Given the description of an element on the screen output the (x, y) to click on. 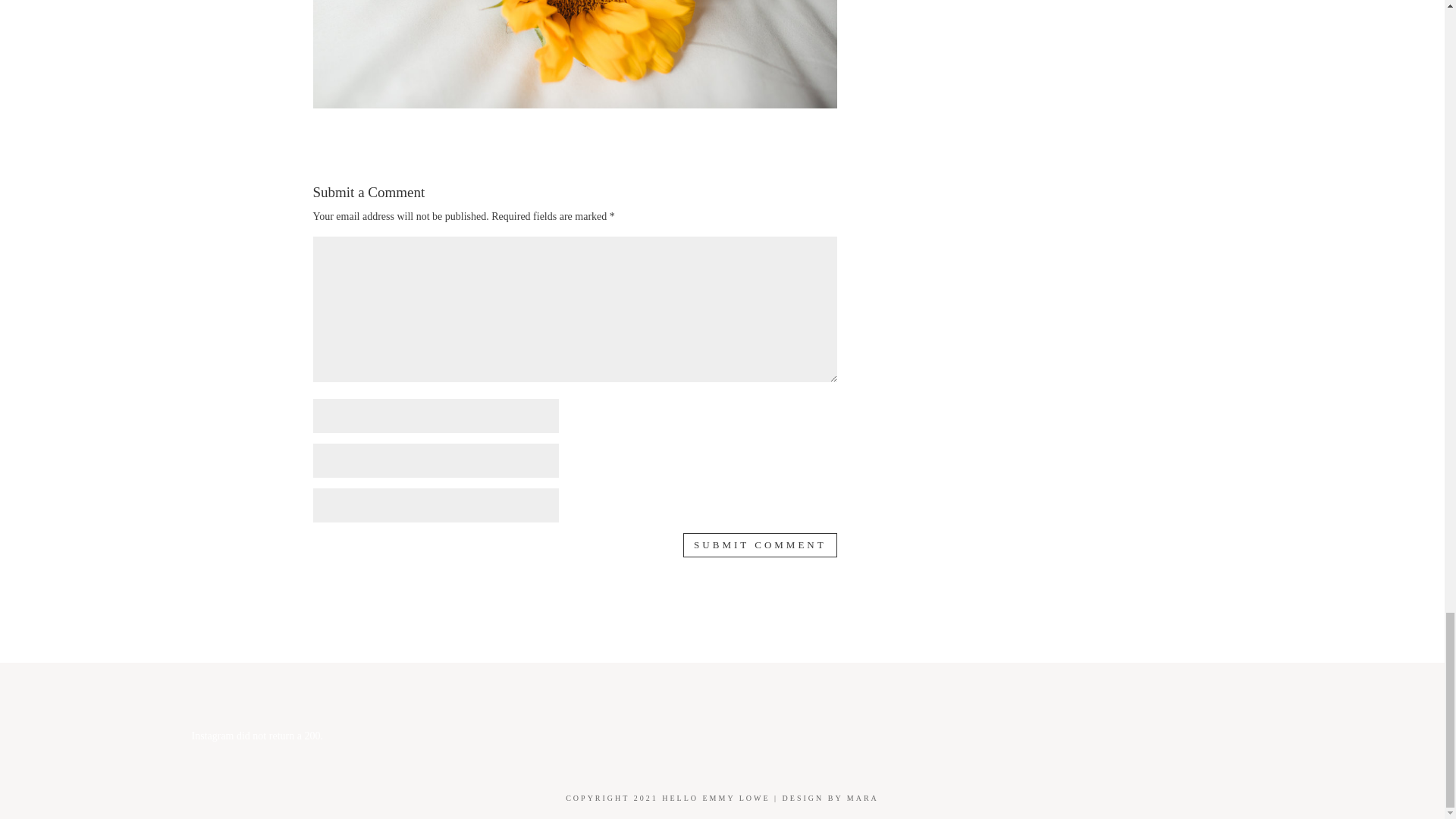
Submit Comment (759, 545)
